Given the description of an element on the screen output the (x, y) to click on. 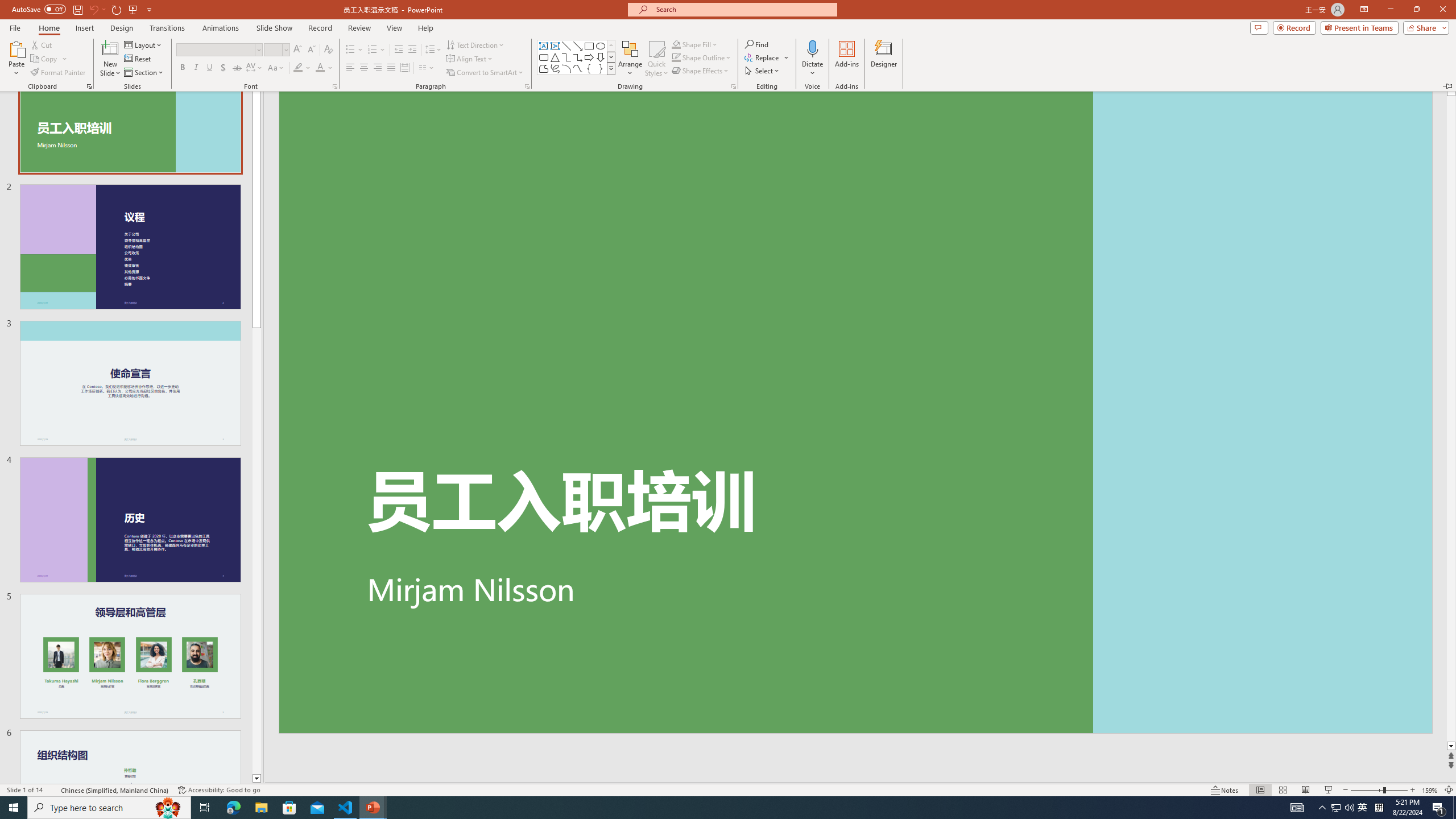
AutomationID: 4105 (1297, 807)
Microsoft Store (1362, 807)
Q2790: 100% (289, 807)
Action Center, 1 new notification (1349, 807)
Running applications (1439, 807)
